Given the description of an element on the screen output the (x, y) to click on. 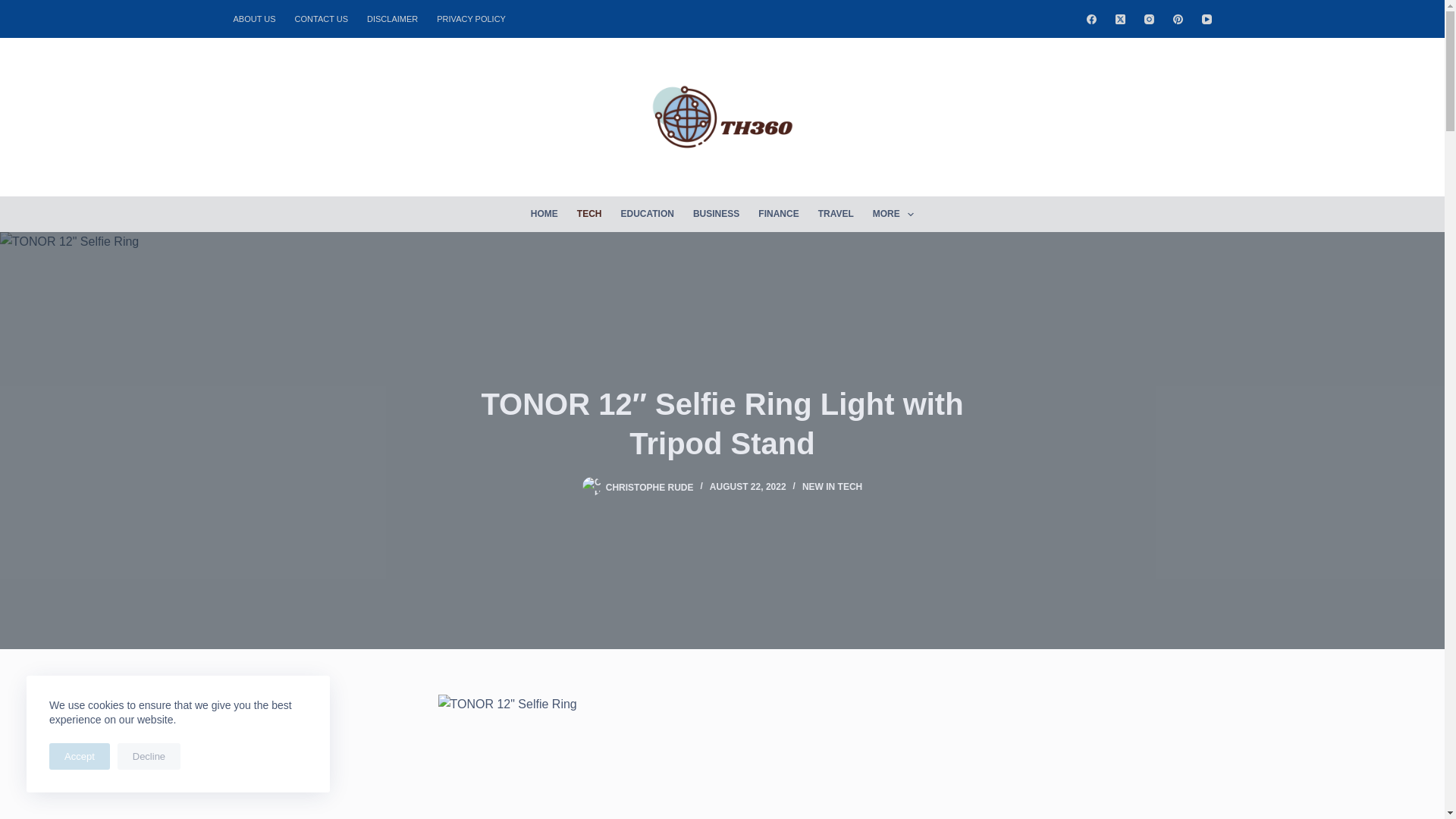
ABOUT US (258, 18)
EDUCATION (646, 213)
Skip to content (15, 7)
FINANCE (778, 213)
Decline (148, 755)
Posts by Christophe Rude (649, 486)
MORE (893, 213)
DISCLAIMER (393, 18)
Accept (79, 755)
CONTACT US (321, 18)
